Given the description of an element on the screen output the (x, y) to click on. 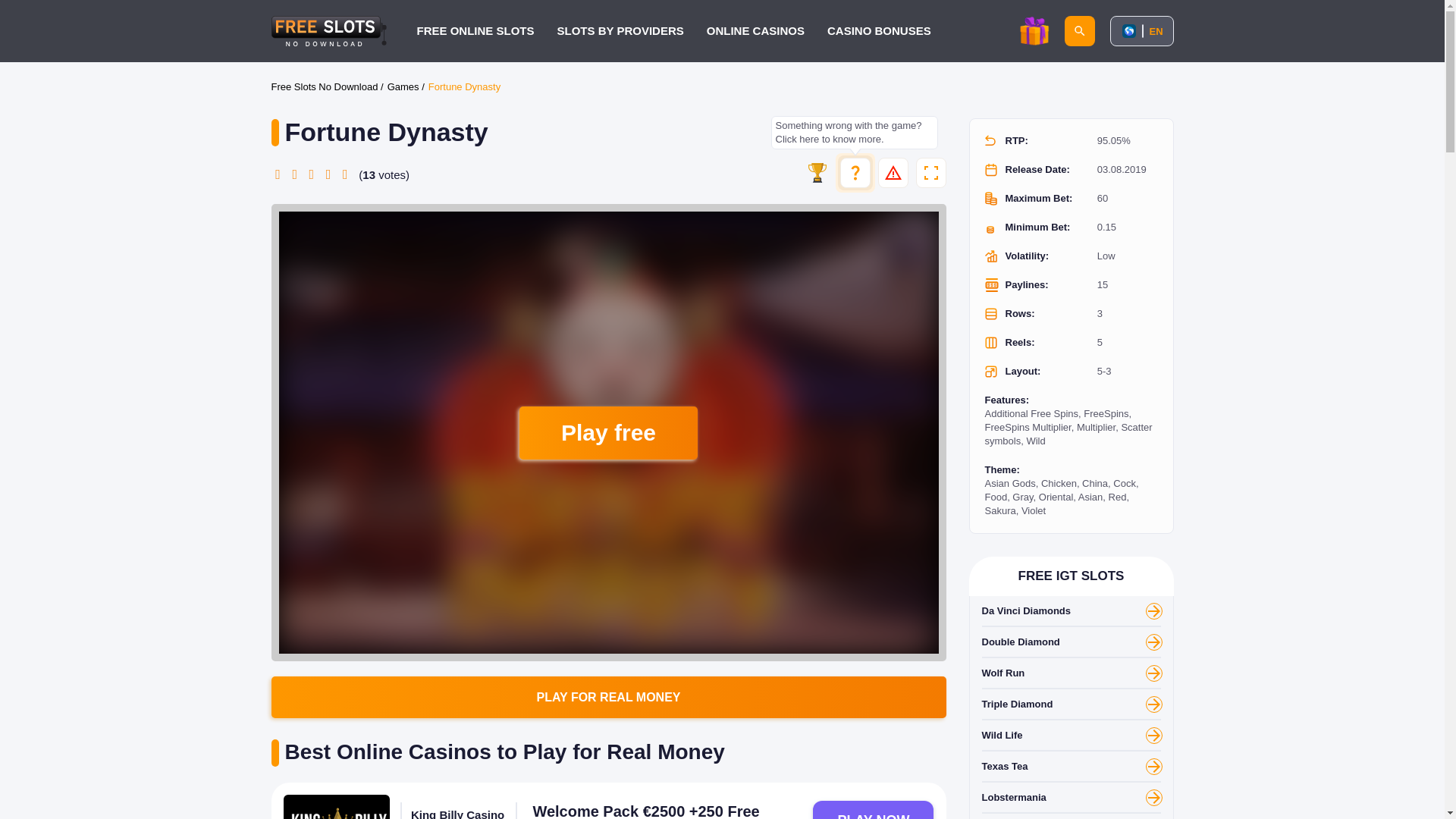
Bug Report (892, 173)
FREE ONLINE SLOTS (475, 30)
Full Screen (930, 173)
